Given the description of an element on the screen output the (x, y) to click on. 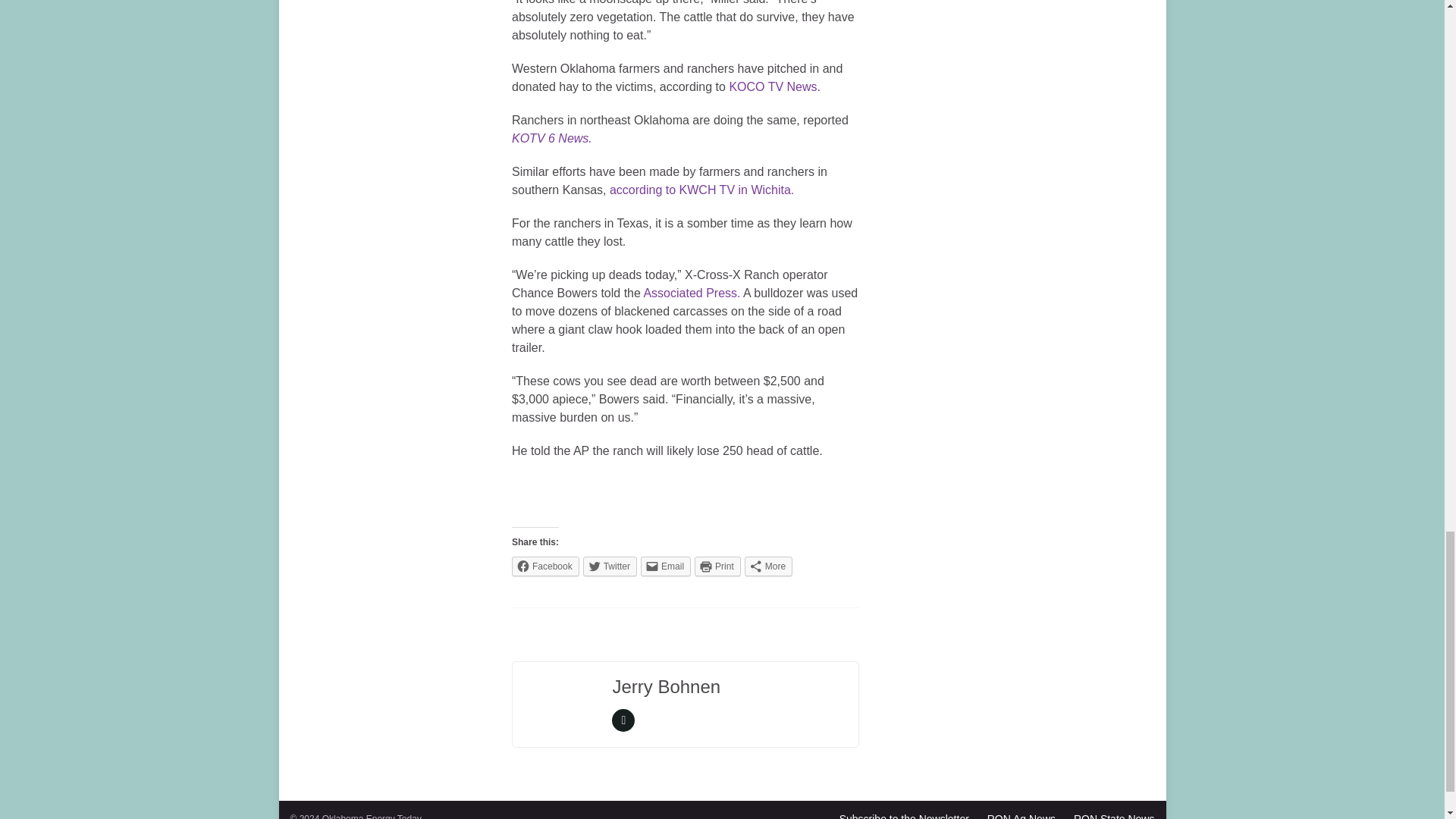
Subscribe to the Newsletter (904, 816)
KOCO TV News. (775, 86)
RON State News (1114, 816)
Associated Press. (691, 292)
RON Ag News (1021, 816)
Email (665, 566)
Print (717, 566)
Click to email a link to a friend (665, 566)
More (768, 566)
KOTV 6 News. (552, 137)
Facebook (545, 566)
Click to print (717, 566)
Click to share on Facebook (545, 566)
according to KWCH TV in Wichita. (701, 189)
Click to share on Twitter (610, 566)
